Given the description of an element on the screen output the (x, y) to click on. 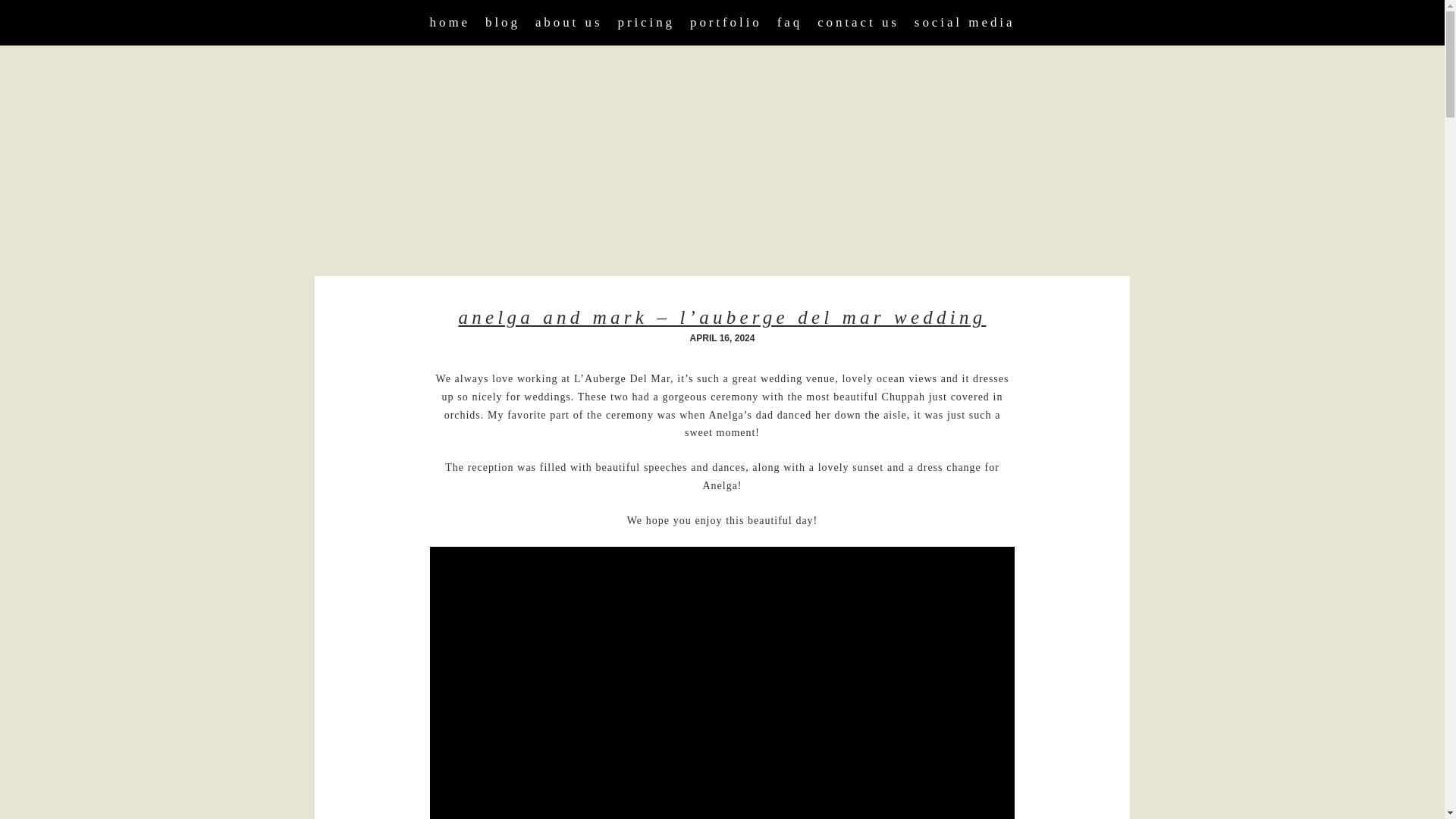
contact us (857, 22)
about us (568, 22)
portfolio (725, 22)
pricing (646, 22)
home (449, 22)
blog (501, 22)
faq (789, 22)
